Given the description of an element on the screen output the (x, y) to click on. 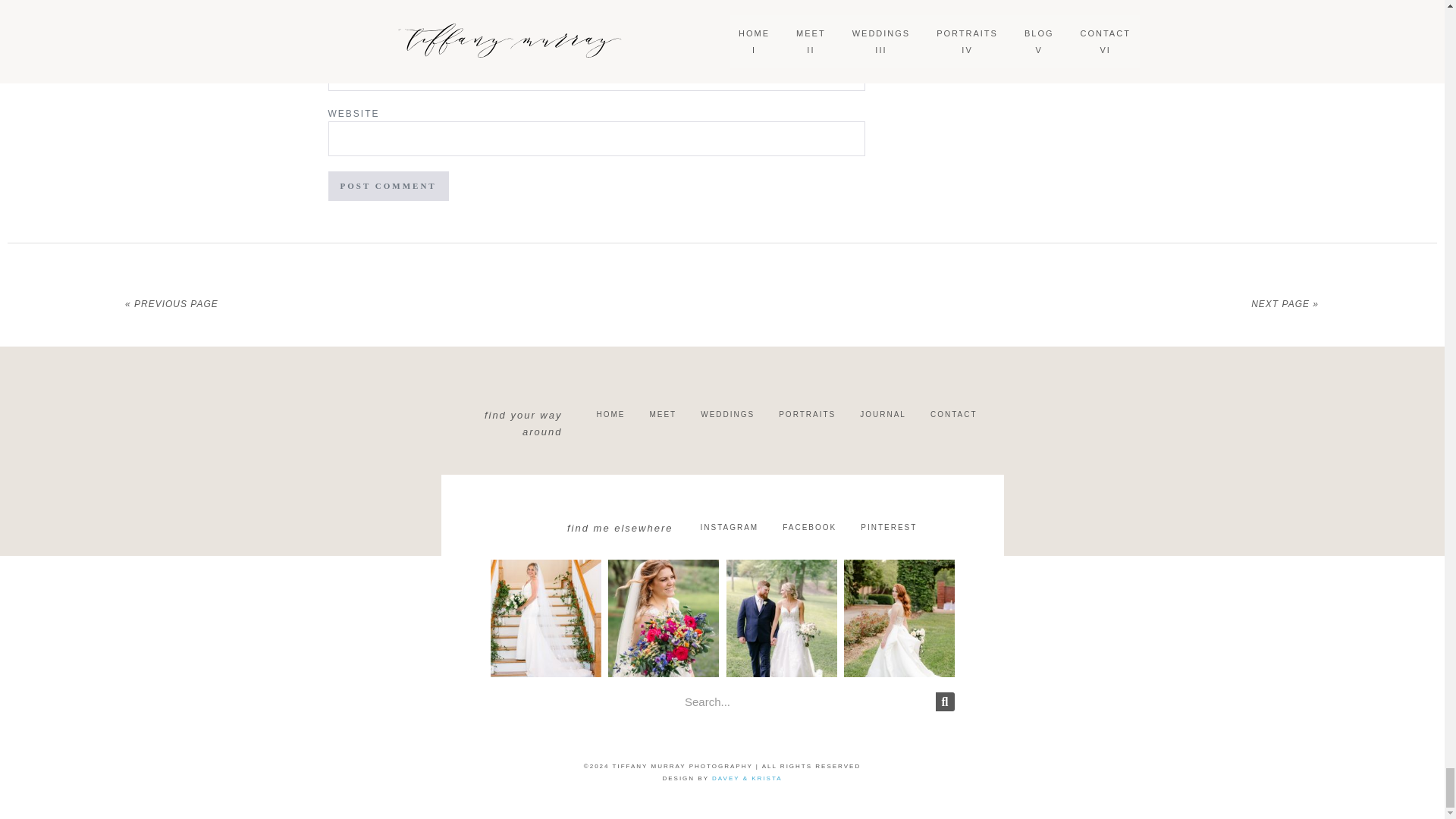
Post Comment (387, 185)
Post Comment (387, 185)
HOME (610, 414)
